Given the description of an element on the screen output the (x, y) to click on. 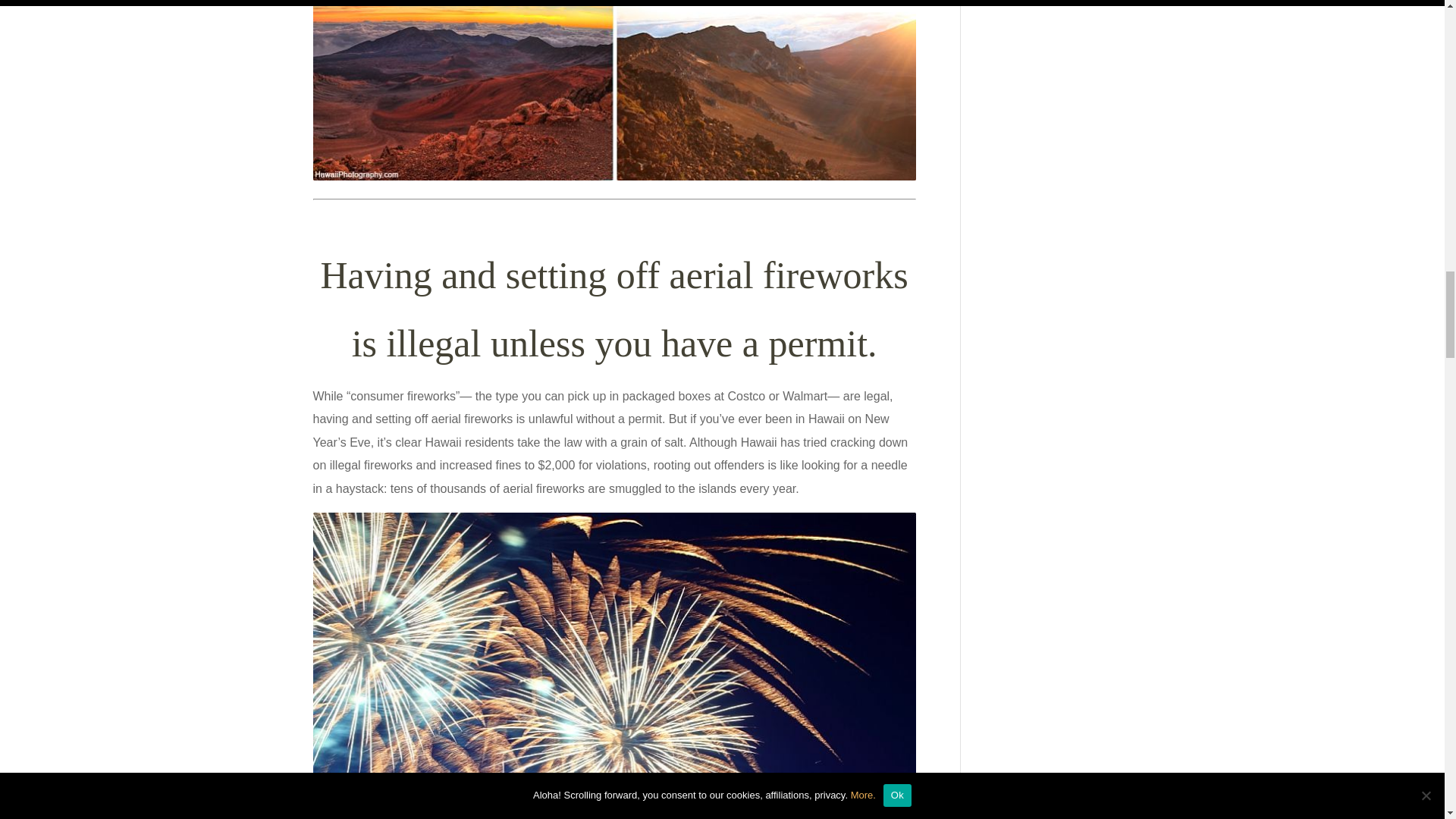
Weirdest Laws In Hawaii - Do Not Take Lava Rocks (614, 89)
